Given the description of an element on the screen output the (x, y) to click on. 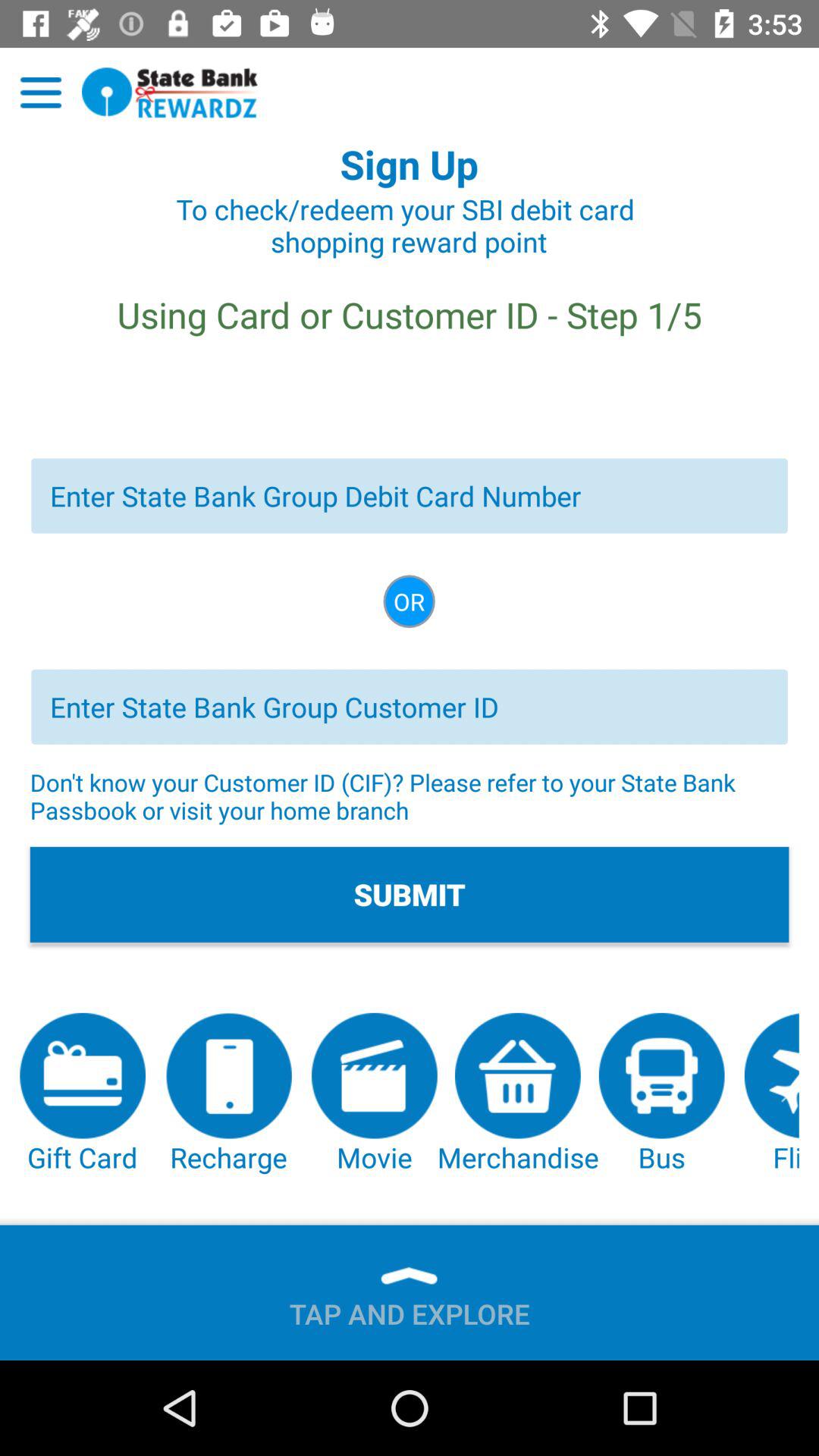
enter debit card number (409, 495)
